Given the description of an element on the screen output the (x, y) to click on. 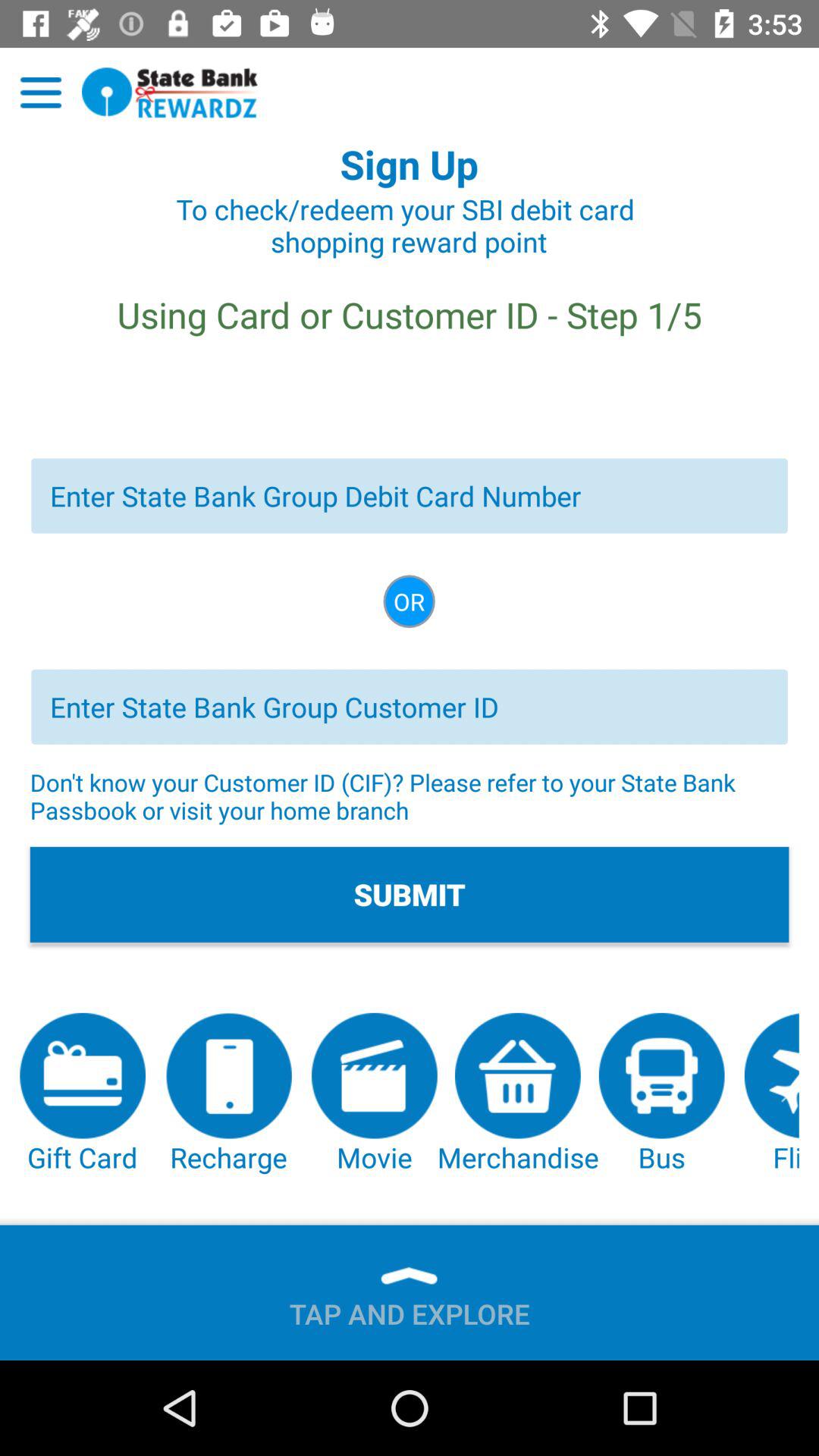
enter debit card number (409, 495)
